Given the description of an element on the screen output the (x, y) to click on. 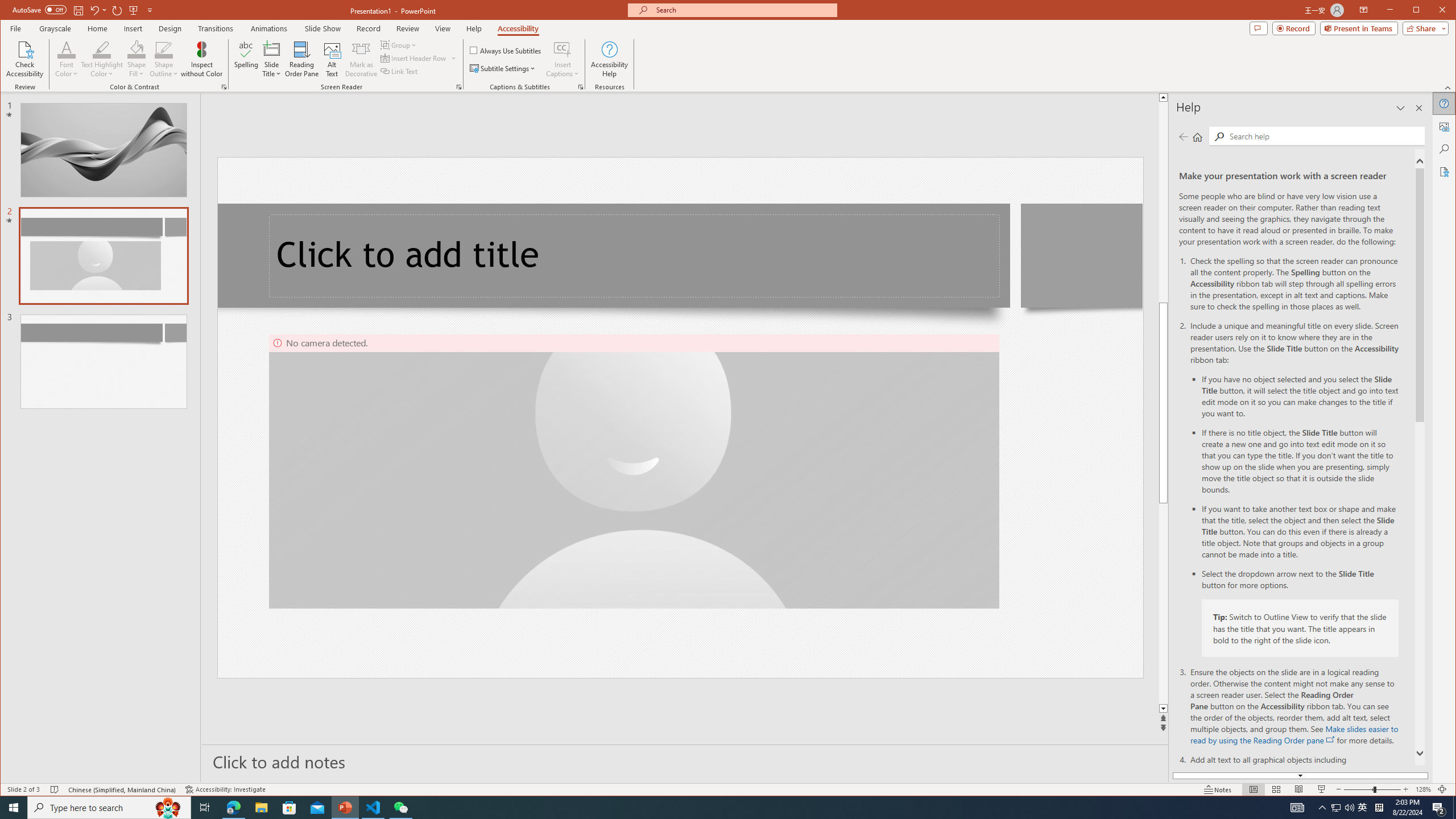
Title TextBox (634, 255)
Previous page (1183, 136)
